Given the description of an element on the screen output the (x, y) to click on. 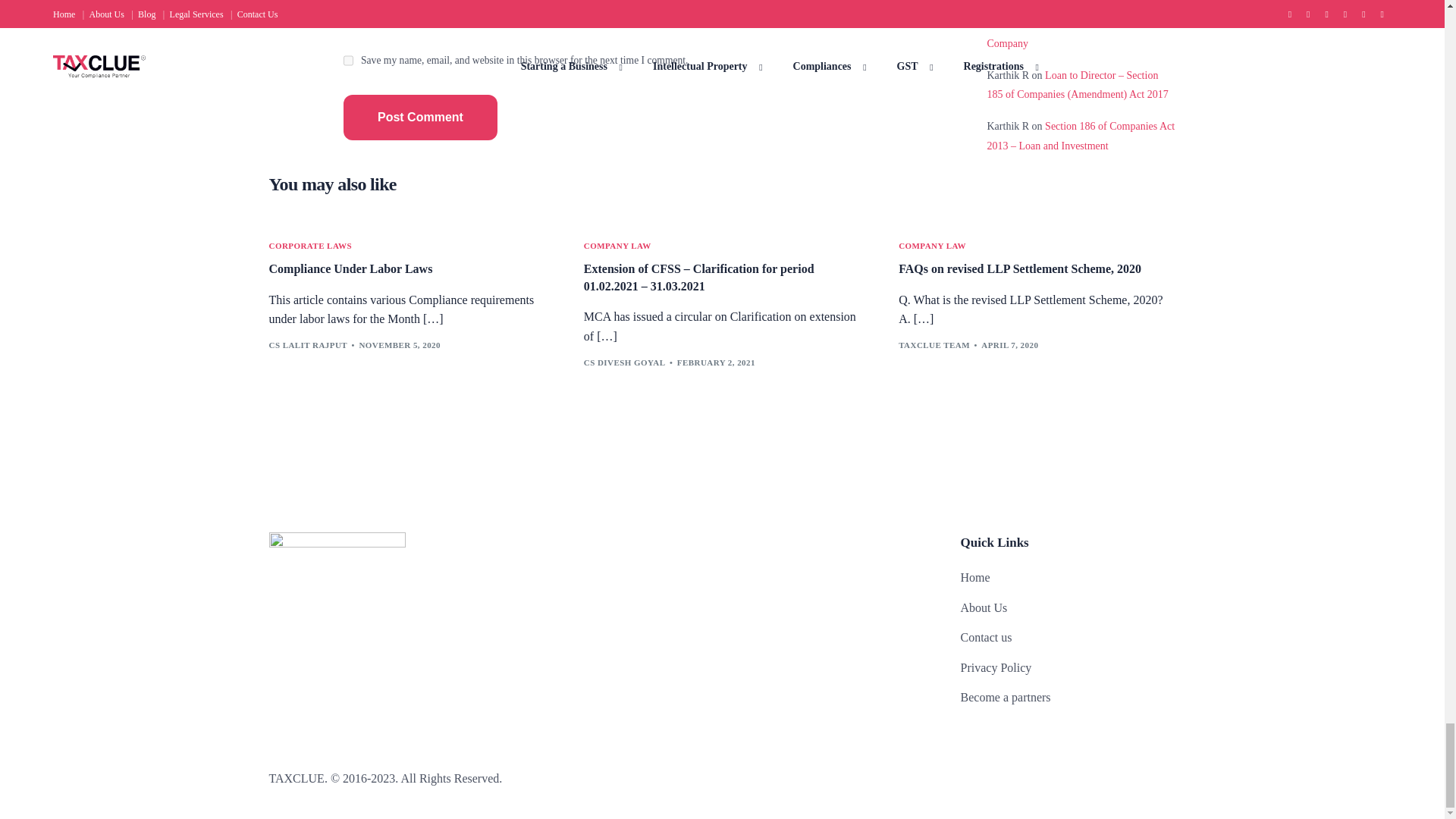
View Post: Compliance Under Labor Laws  (405, 269)
Post Comment (420, 117)
Posts by CS Lalit Rajput (307, 344)
Posts by CS Divesh Goyal (624, 361)
View Company Law posts (616, 245)
View Corporate Laws posts (309, 245)
View Post: FAQs on revised LLP Settlement Scheme, 2020  (1036, 269)
View Company Law posts (932, 245)
